Given the description of an element on the screen output the (x, y) to click on. 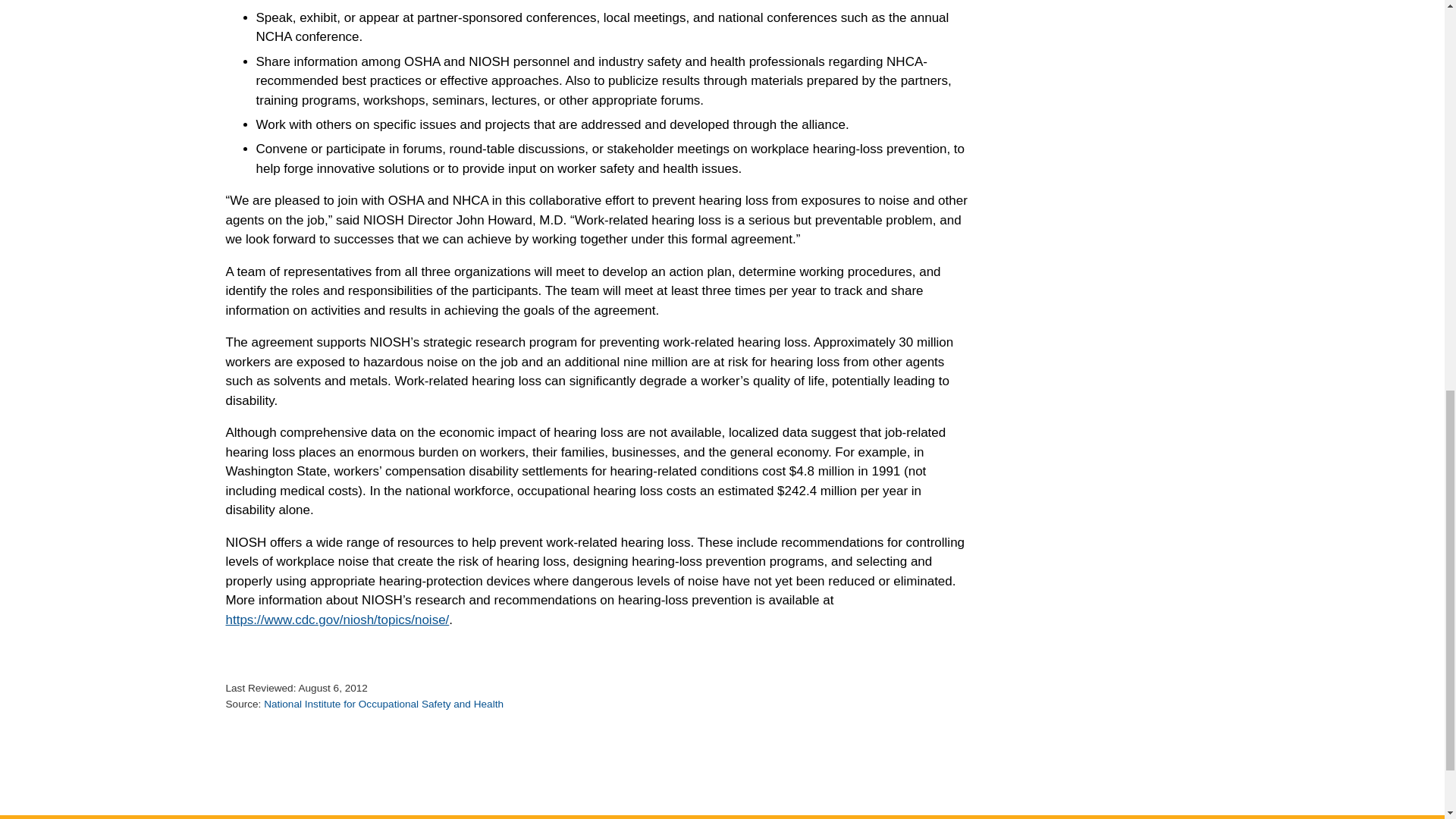
National Institute for Occupational Safety and Health (383, 704)
